Given the description of an element on the screen output the (x, y) to click on. 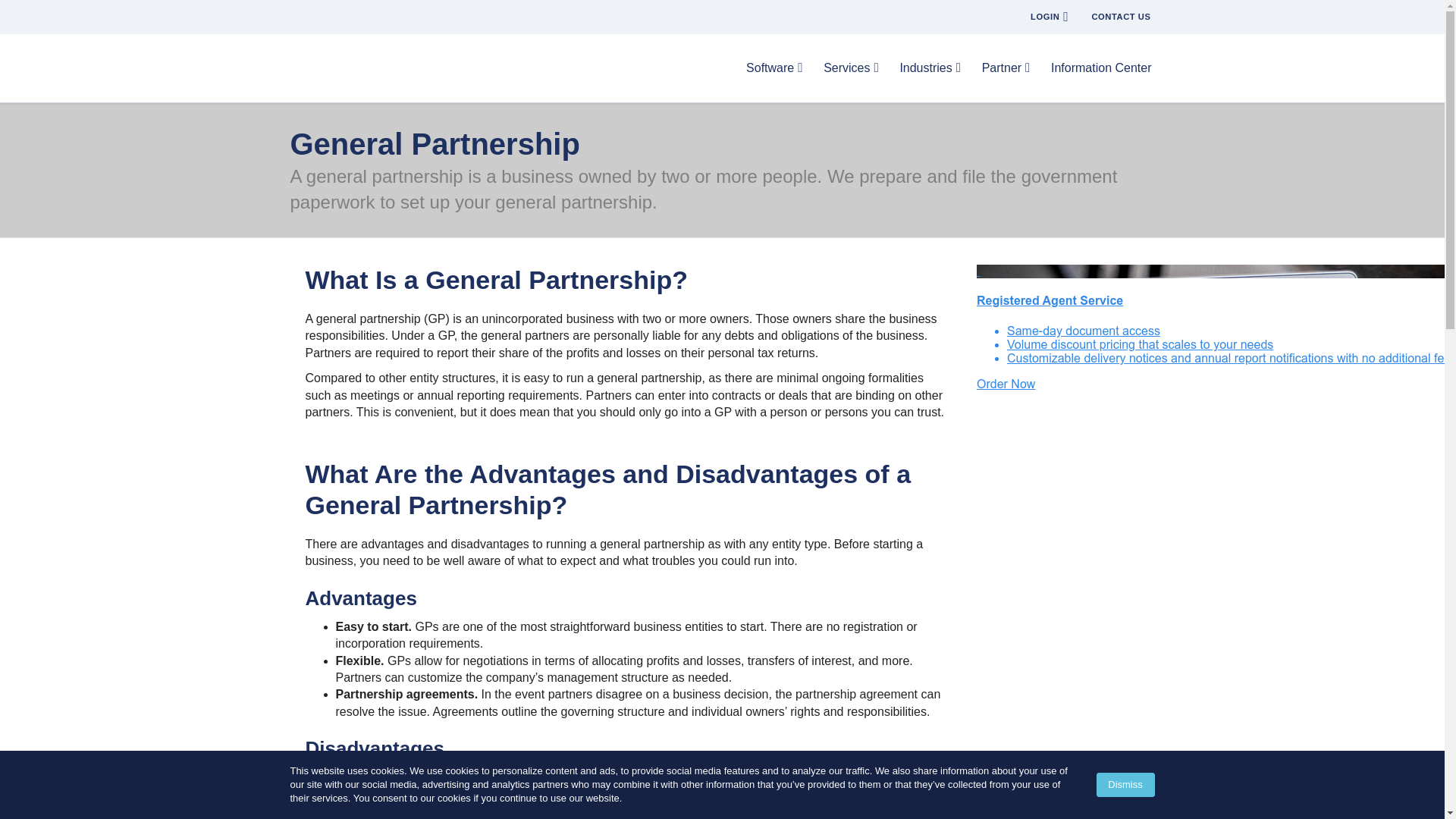
CONTACT US (1122, 17)
Dismiss (1125, 784)
LOGIN (1049, 18)
Harbor Compliance (346, 67)
